Given the description of an element on the screen output the (x, y) to click on. 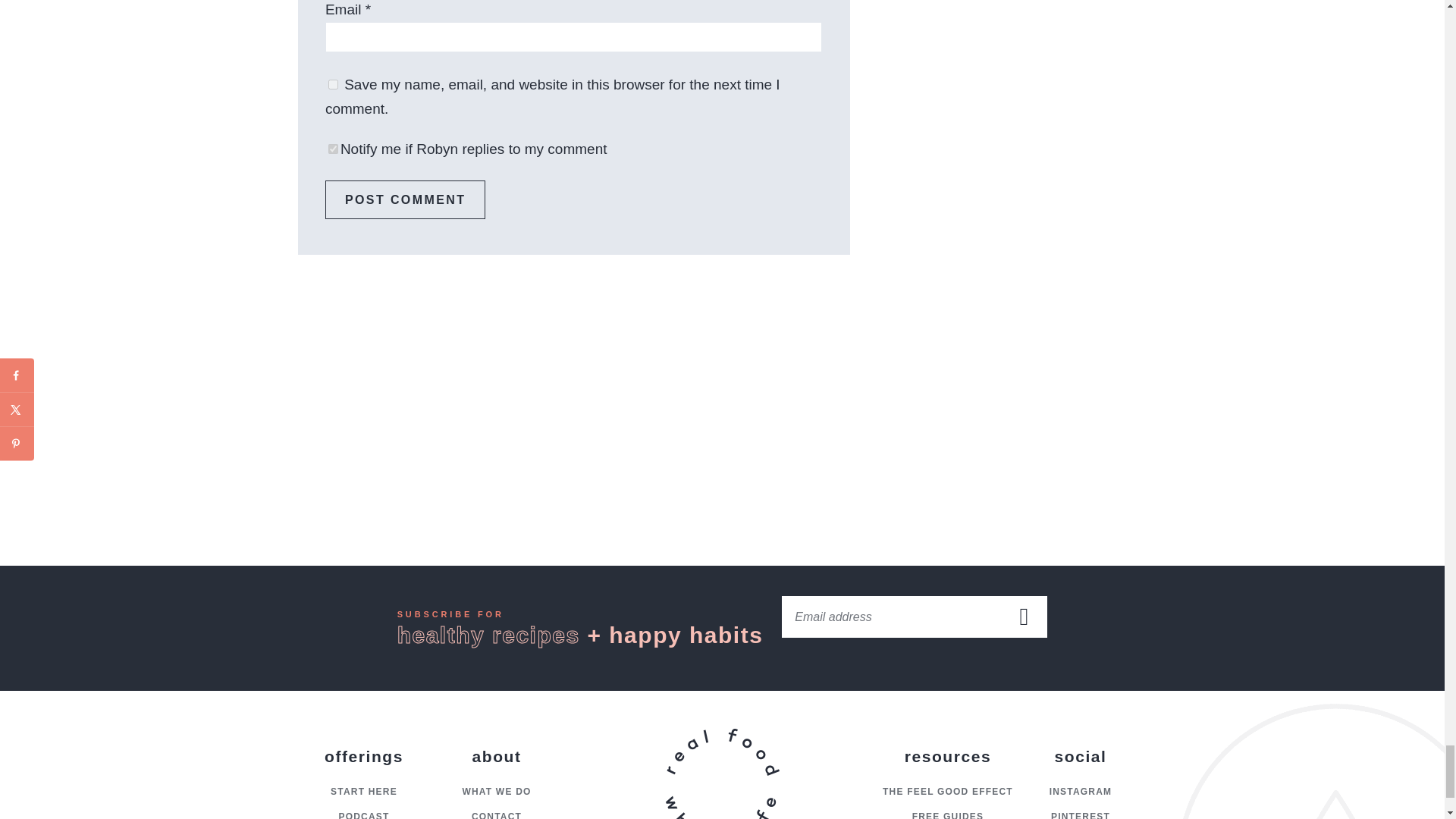
yes (333, 84)
on (333, 148)
Real Food Whole Life (721, 773)
Post Comment (404, 199)
